Given the description of an element on the screen output the (x, y) to click on. 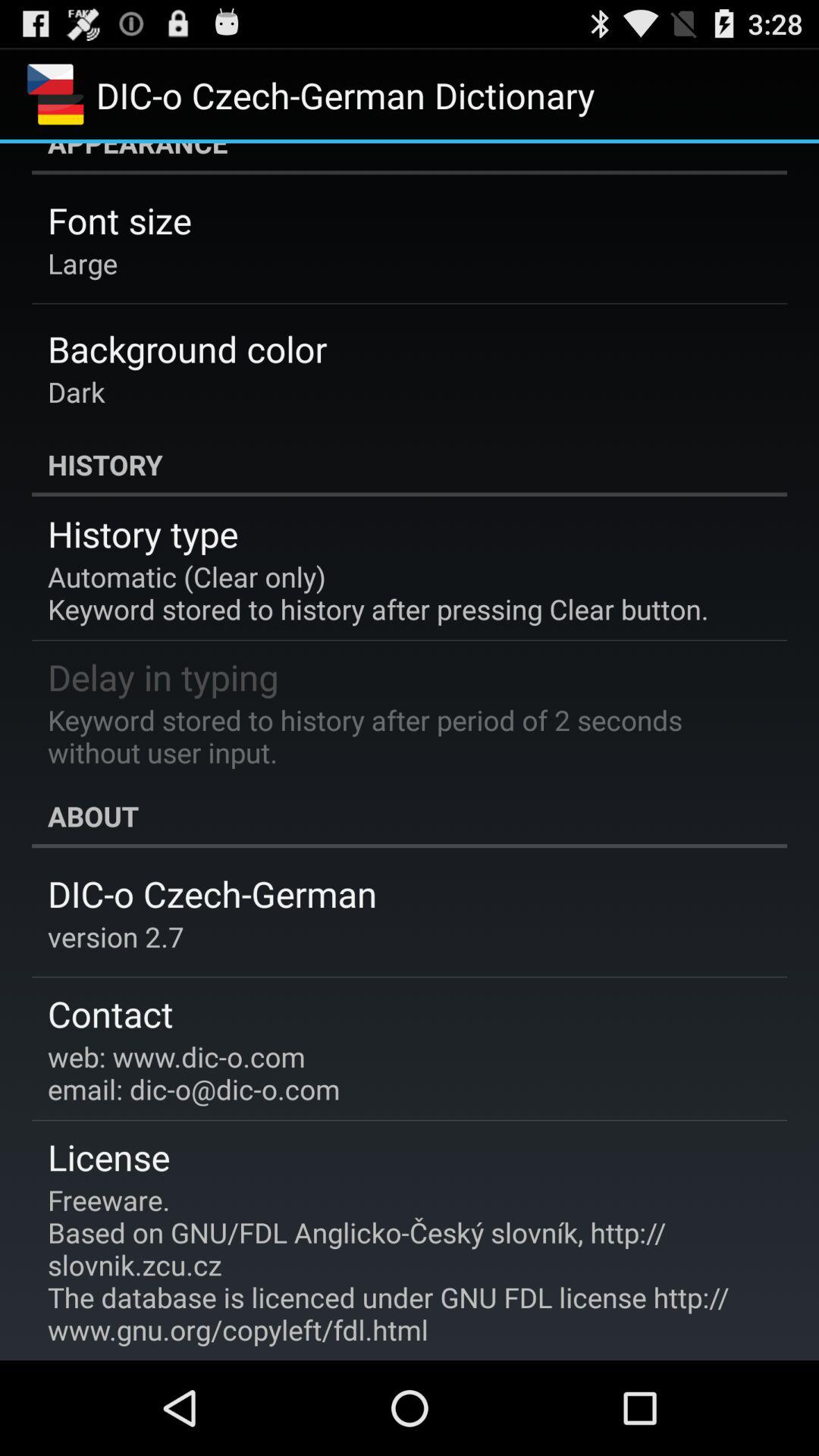
jump to automatic clear only icon (377, 592)
